Given the description of an element on the screen output the (x, y) to click on. 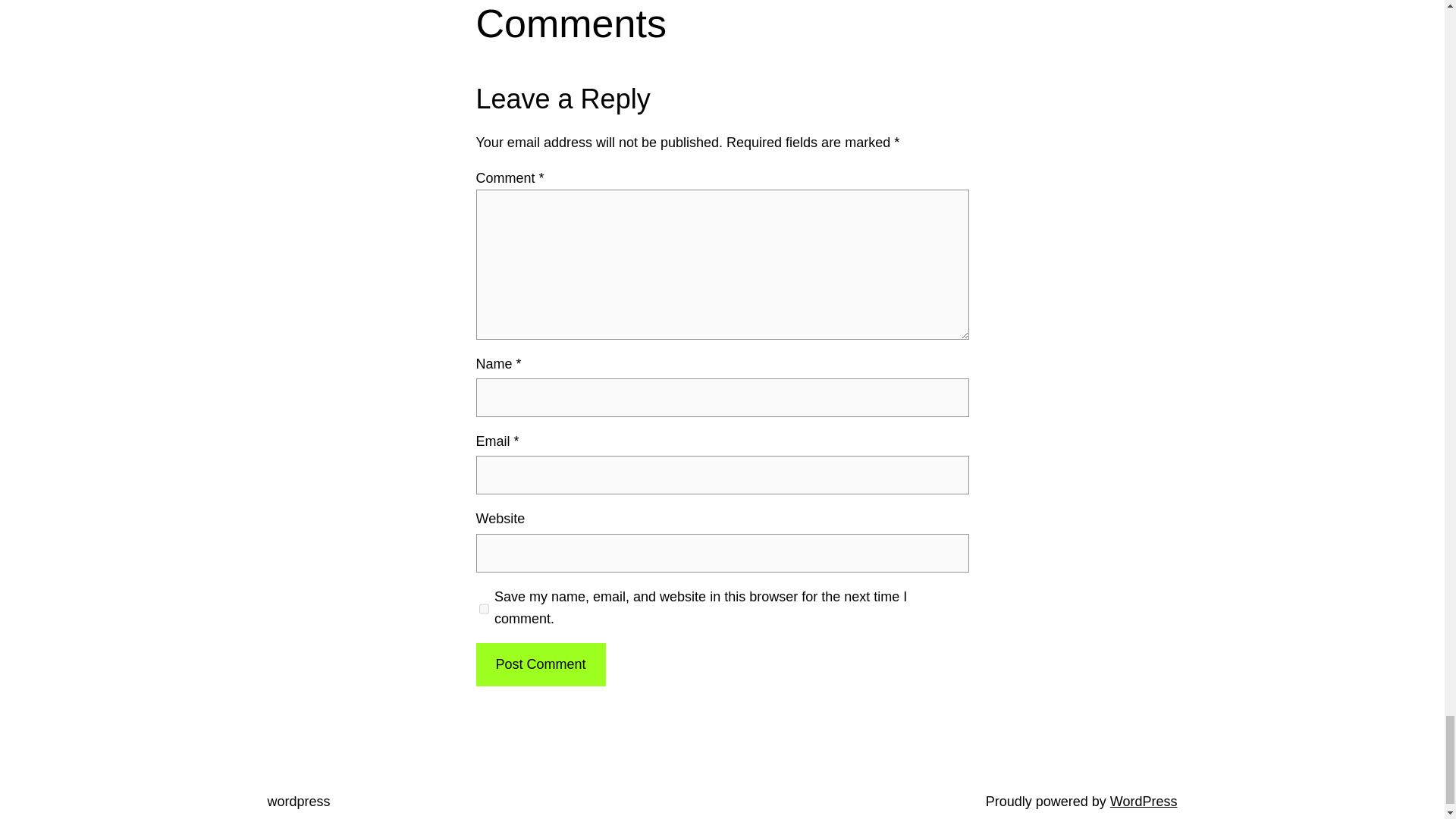
wordpress (298, 801)
WordPress (1143, 801)
Post Comment (540, 664)
Post Comment (540, 664)
